Given the description of an element on the screen output the (x, y) to click on. 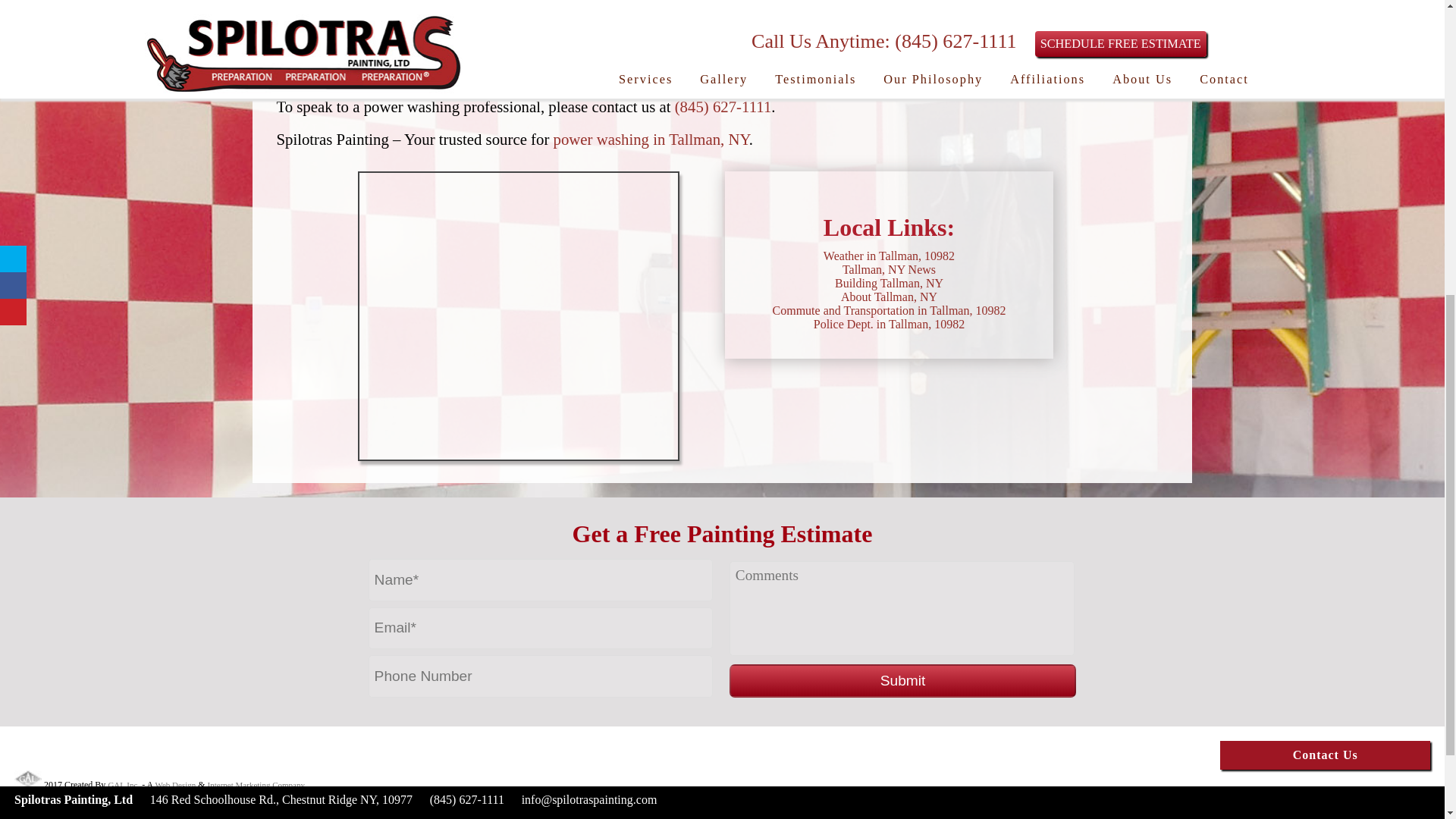
power washing in Tallman, NY (651, 139)
Tallman, NY News (889, 269)
power washing in Tallman, NY (909, 73)
Building Tallman, NY (888, 282)
Police Dept. in Tallman, 10982 (888, 323)
Submit (902, 680)
Submit (902, 680)
Weather in Tallman, 10982 (889, 255)
Commute and Transportation in Tallman, 10982 (889, 309)
About Tallman, NY (889, 296)
